Given the description of an element on the screen output the (x, y) to click on. 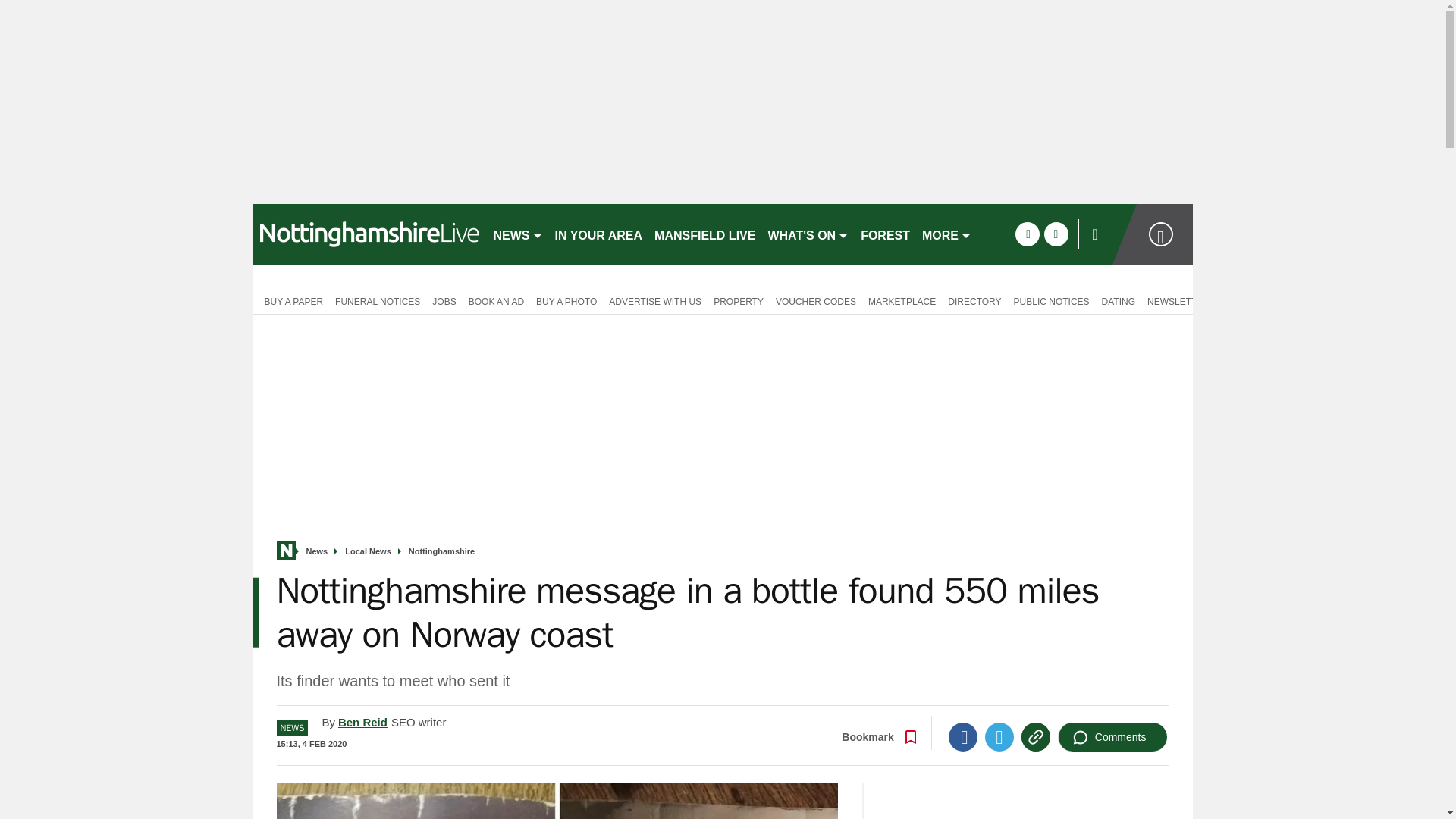
Twitter (999, 736)
facebook (1026, 233)
WHAT'S ON (807, 233)
NEWS (517, 233)
nottinghampost (365, 233)
MORE (945, 233)
Comments (1112, 736)
MANSFIELD LIVE (704, 233)
IN YOUR AREA (598, 233)
FOREST (884, 233)
Facebook (962, 736)
twitter (1055, 233)
